Given the description of an element on the screen output the (x, y) to click on. 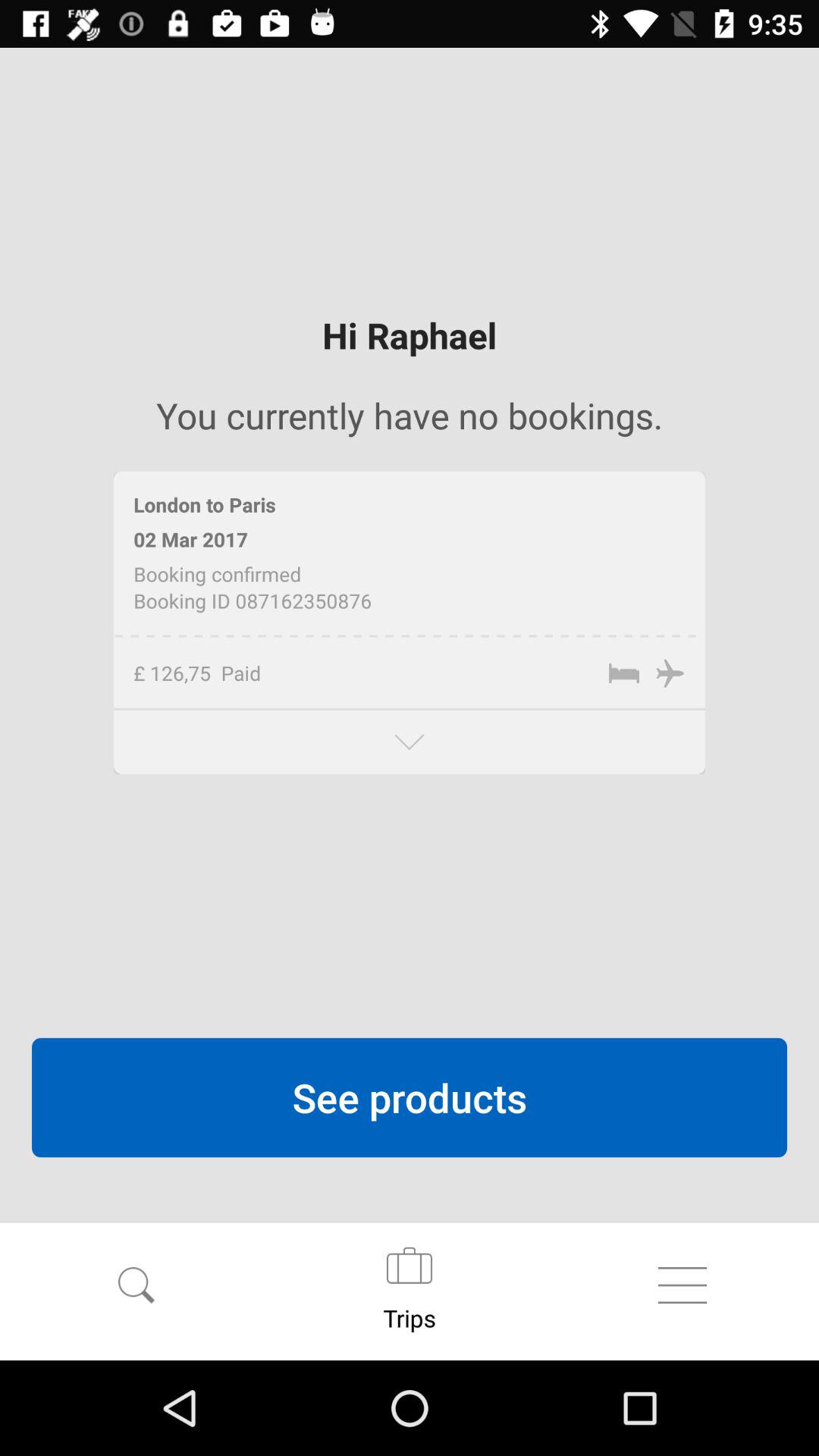
flip to see products (409, 1097)
